Given the description of an element on the screen output the (x, y) to click on. 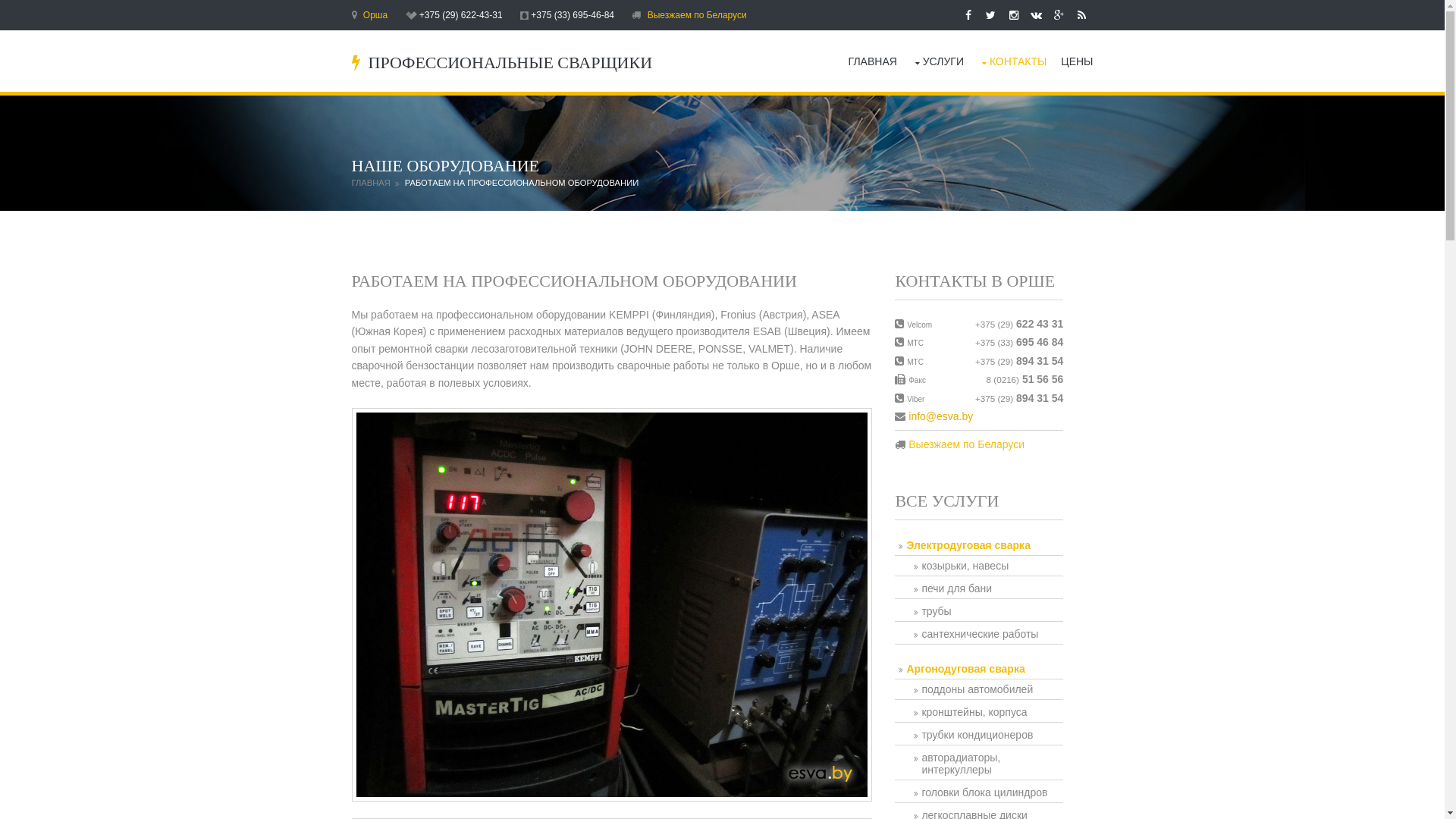
info@esva.by Element type: text (940, 416)
